Given the description of an element on the screen output the (x, y) to click on. 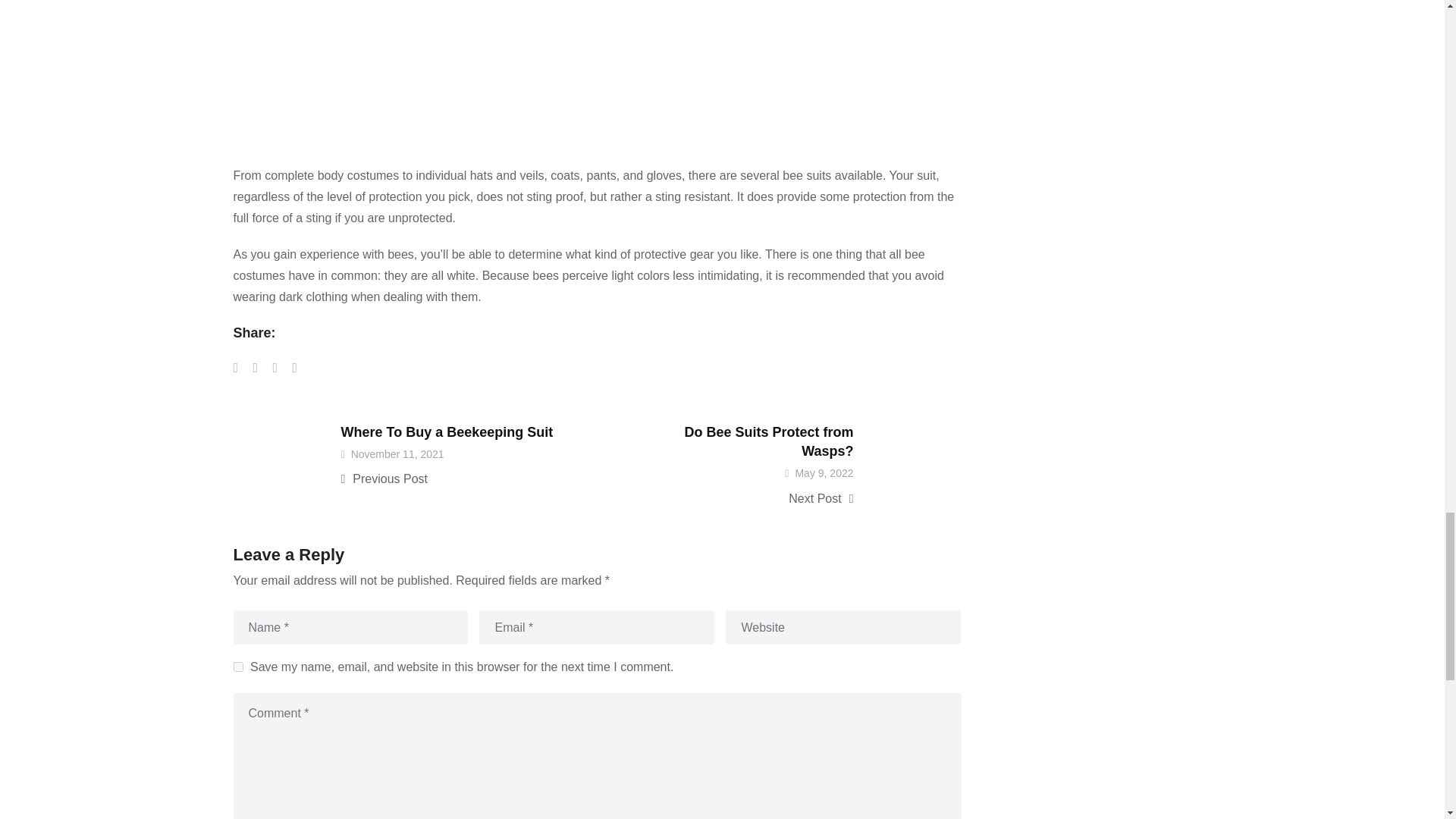
Do Bee Suits Protect from Wasps? (768, 441)
Next Post (747, 498)
Previous Post (446, 478)
yes (237, 666)
Where To Buy a Beekeeping Suit (446, 432)
